Given the description of an element on the screen output the (x, y) to click on. 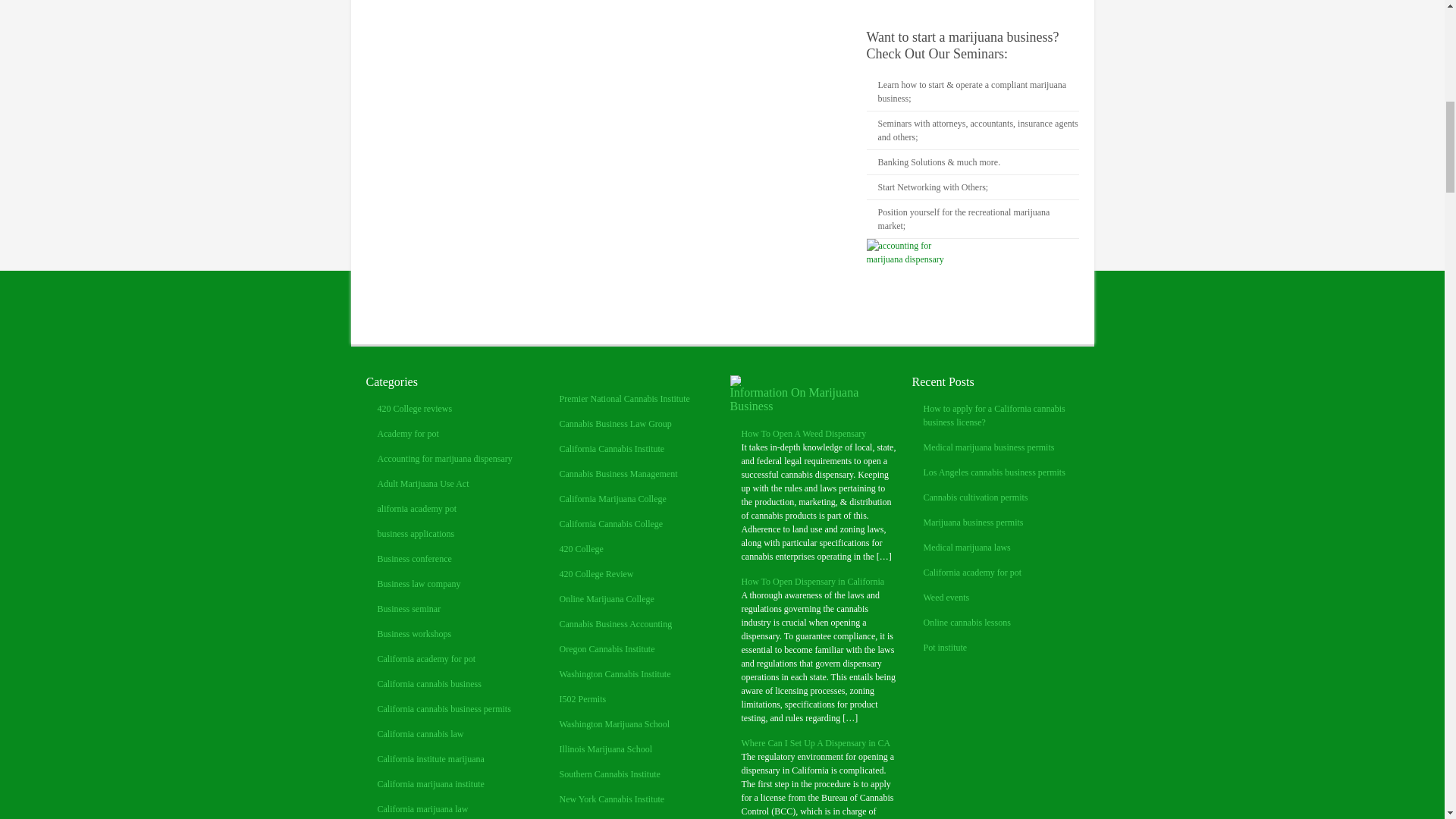
Adult Marijuana Use Act (422, 483)
Business law company (419, 583)
business applications (415, 533)
Accounting for marijuana dispensary (444, 458)
Academy for pot (408, 433)
alifornia academy pot (417, 508)
420 College reviews (414, 408)
Business conference (414, 558)
Business seminar (409, 608)
